Given the description of an element on the screen output the (x, y) to click on. 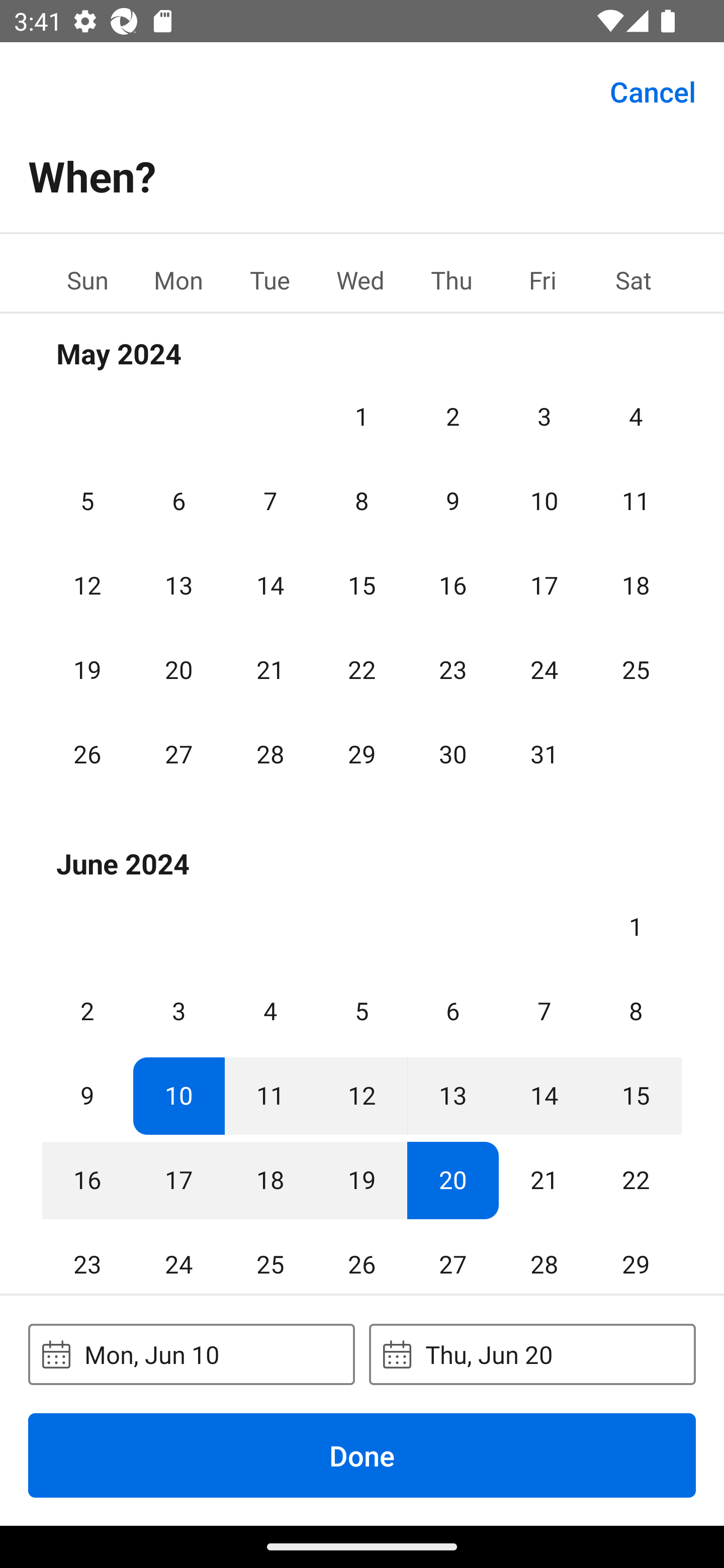
Cancel (652, 90)
Mon, Jun 10 (191, 1353)
Thu, Jun 20 (532, 1353)
Done (361, 1454)
